Given the description of an element on the screen output the (x, y) to click on. 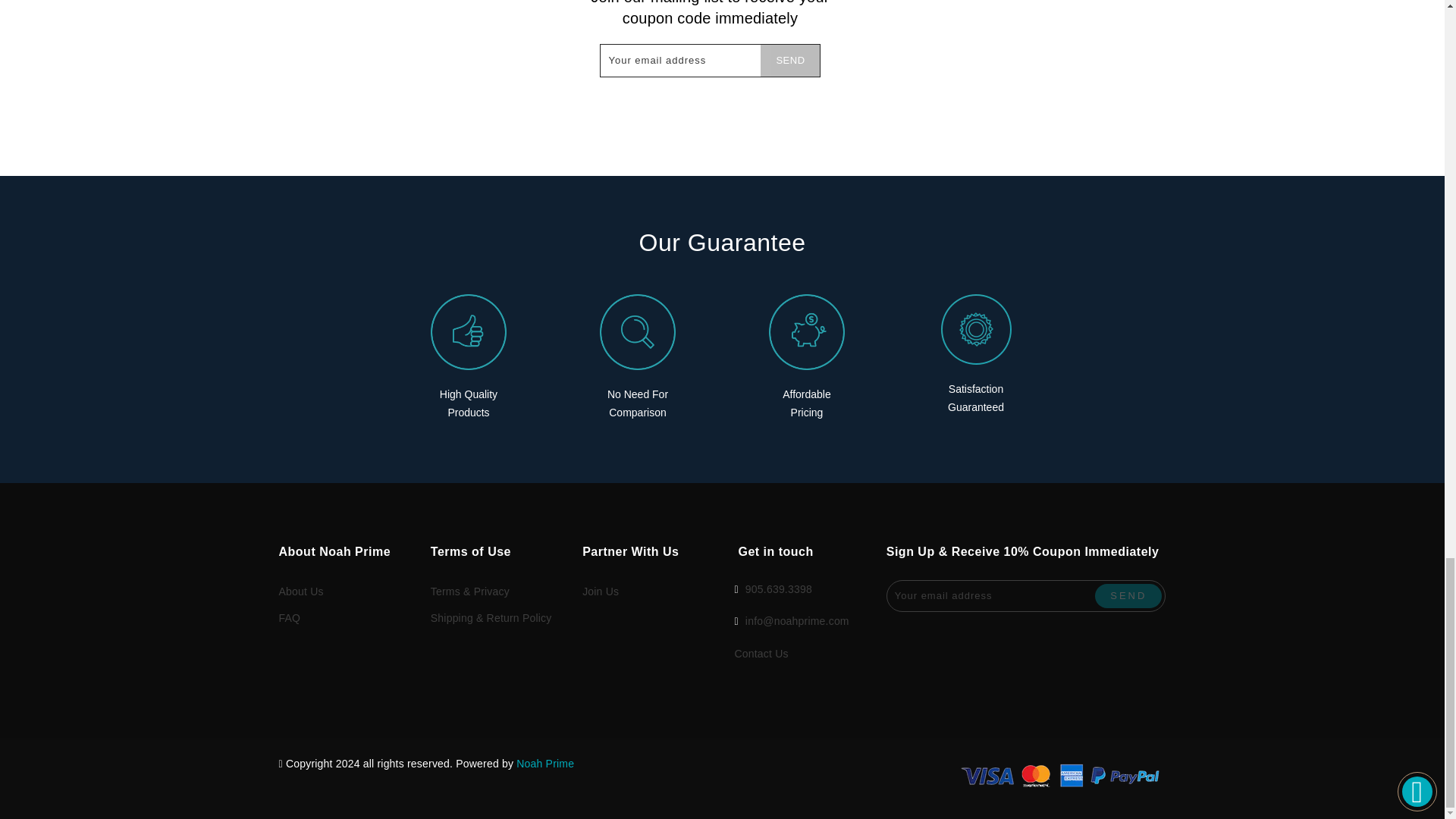
Send (789, 60)
Send (1127, 595)
